Given the description of an element on the screen output the (x, y) to click on. 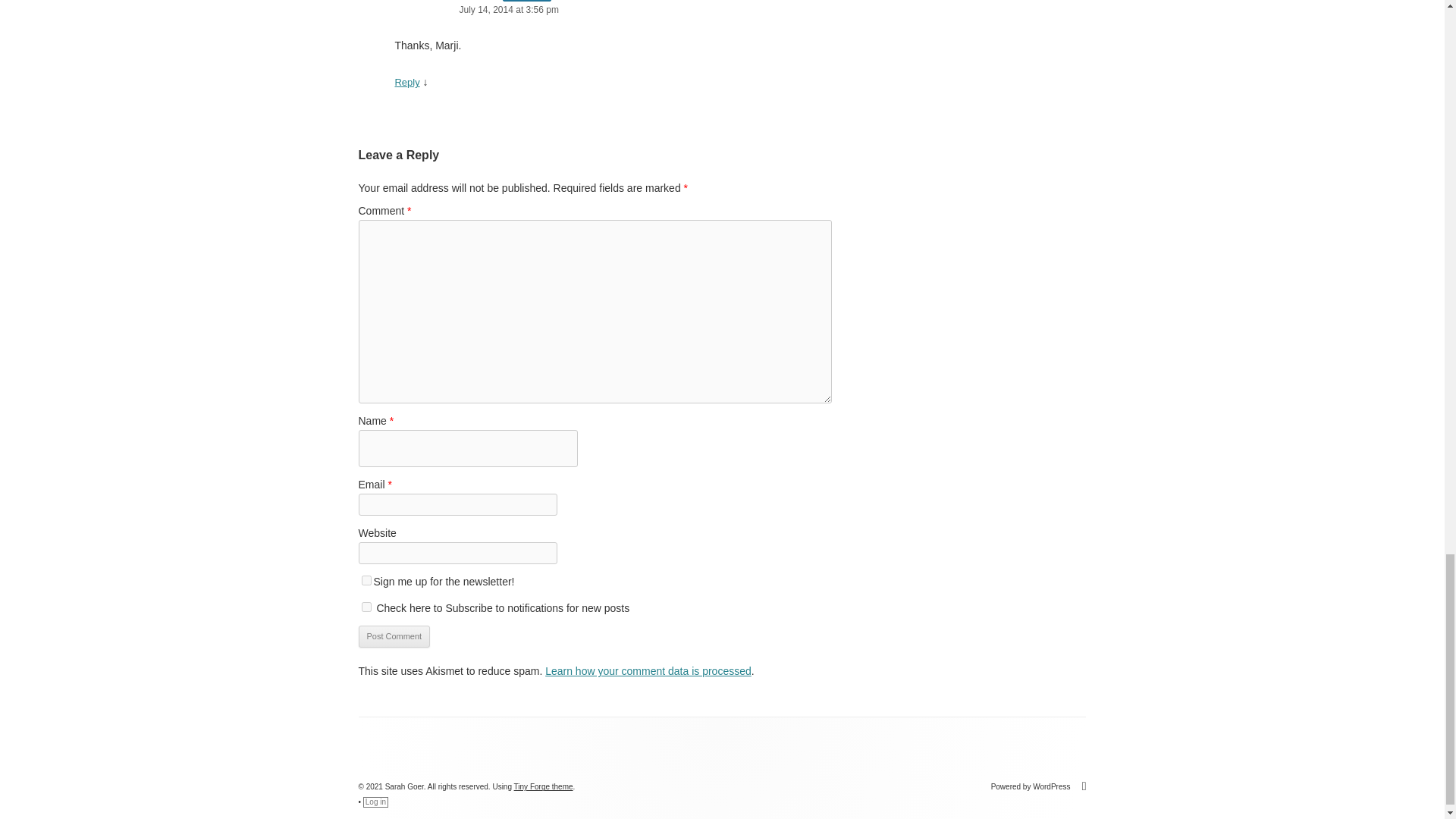
Post Comment (393, 636)
Semantic Personal Publishing Platform (1038, 786)
1 (366, 606)
Reply (406, 81)
Learn how your comment data is processed (647, 671)
1 (366, 580)
July 14, 2014 at 3:56 pm (612, 10)
Post Comment (393, 636)
